Given the description of an element on the screen output the (x, y) to click on. 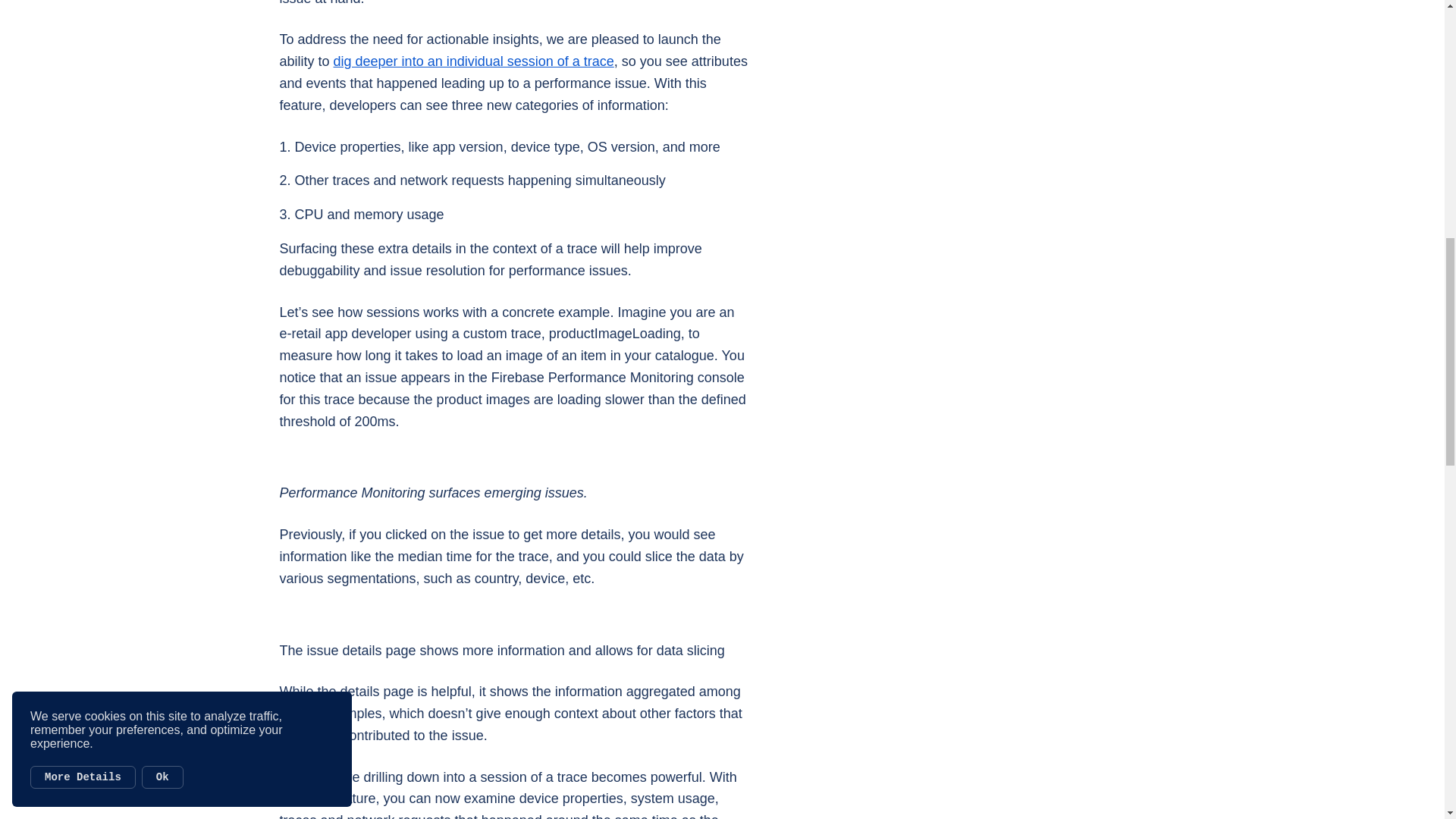
dig deeper into an individual session of a trace (473, 61)
